Given the description of an element on the screen output the (x, y) to click on. 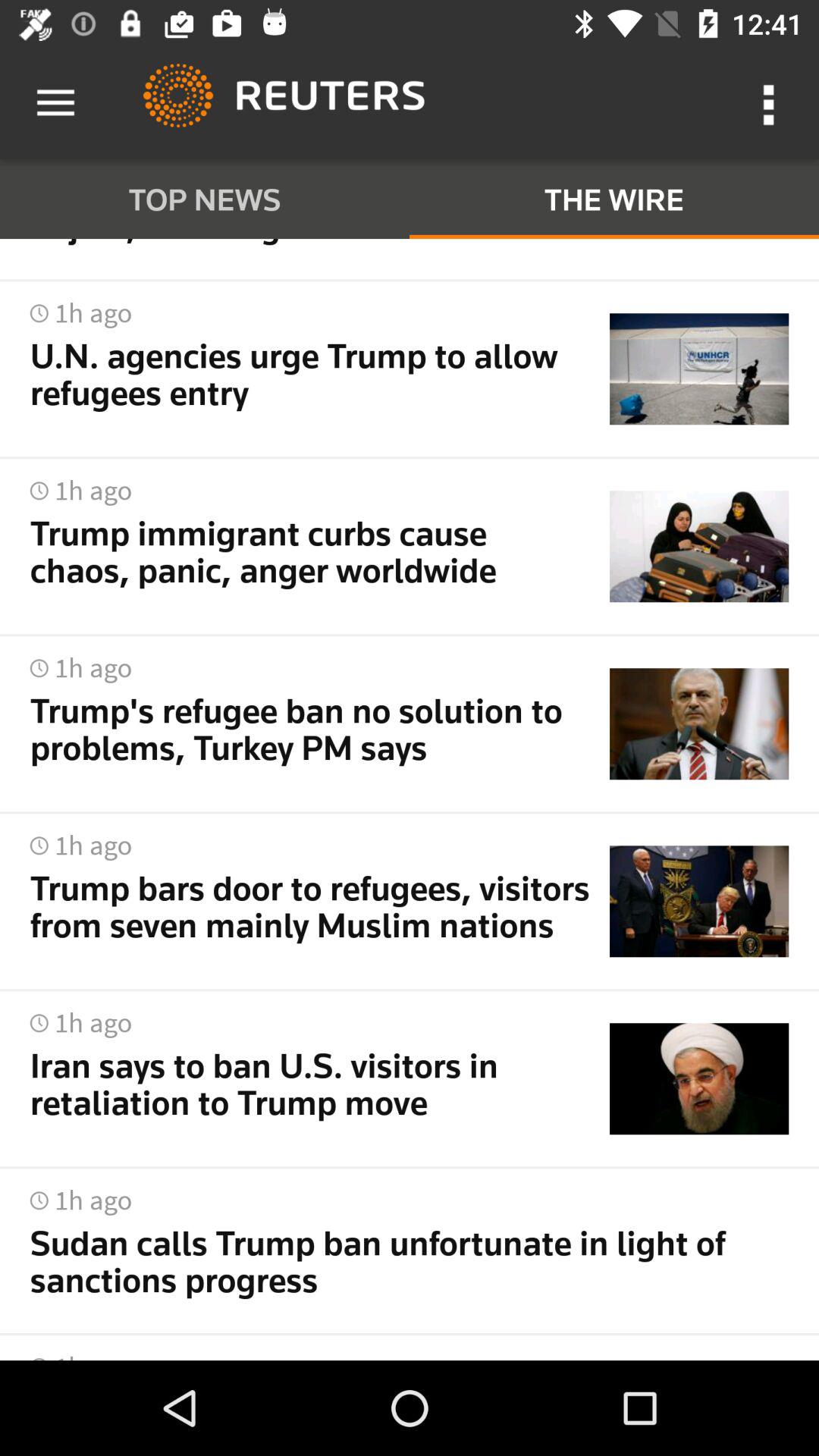
click item above the the wire icon (771, 103)
